Given the description of an element on the screen output the (x, y) to click on. 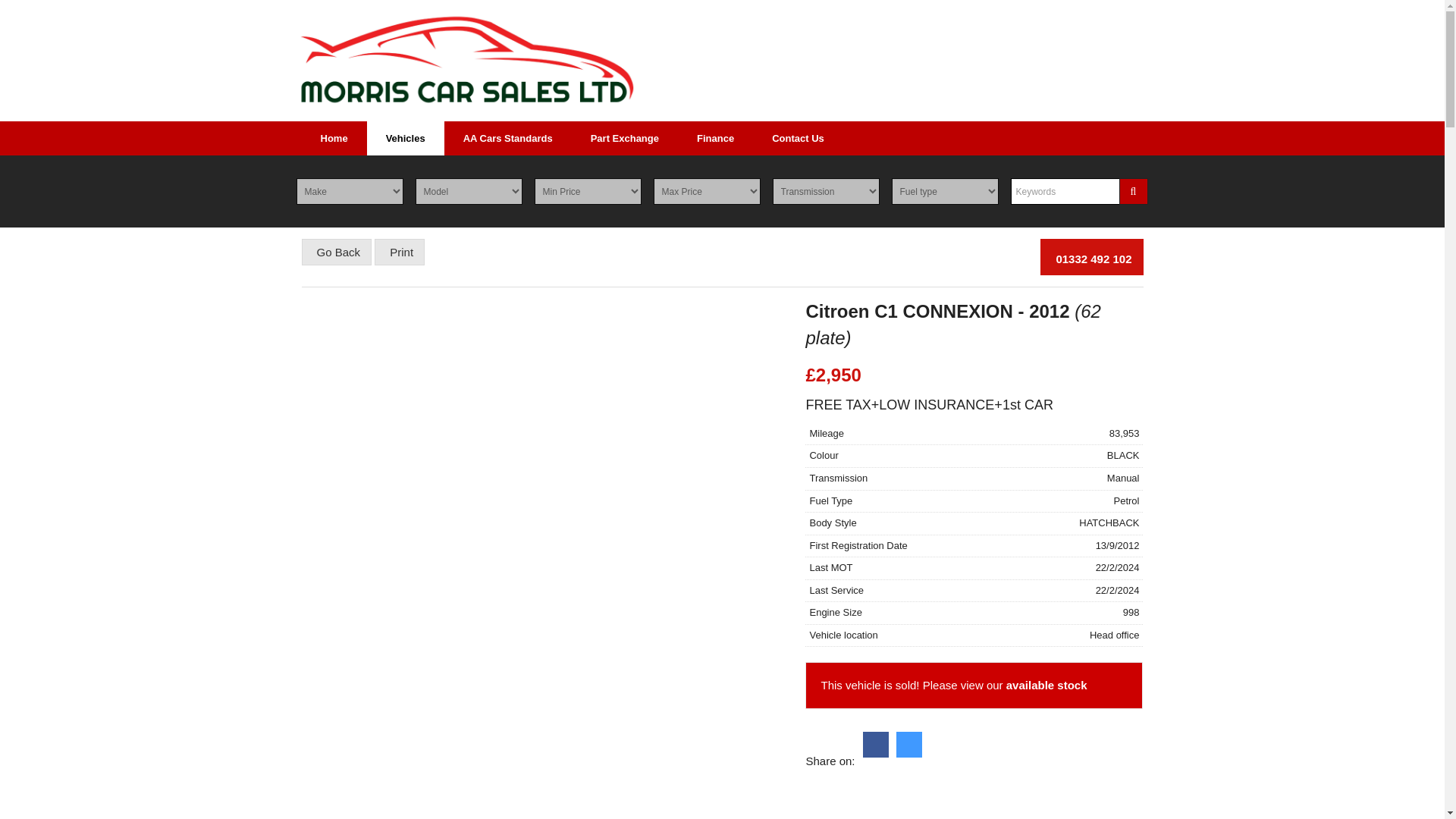
AA Cars Standards (508, 138)
01332 492 102 (1091, 257)
Vehicles (405, 138)
Part Exchange (625, 138)
Vehicles (405, 138)
Contact Us (797, 138)
AA Cars Standards (508, 138)
Home (333, 138)
Finance (715, 138)
Go Back (336, 252)
